Given the description of an element on the screen output the (x, y) to click on. 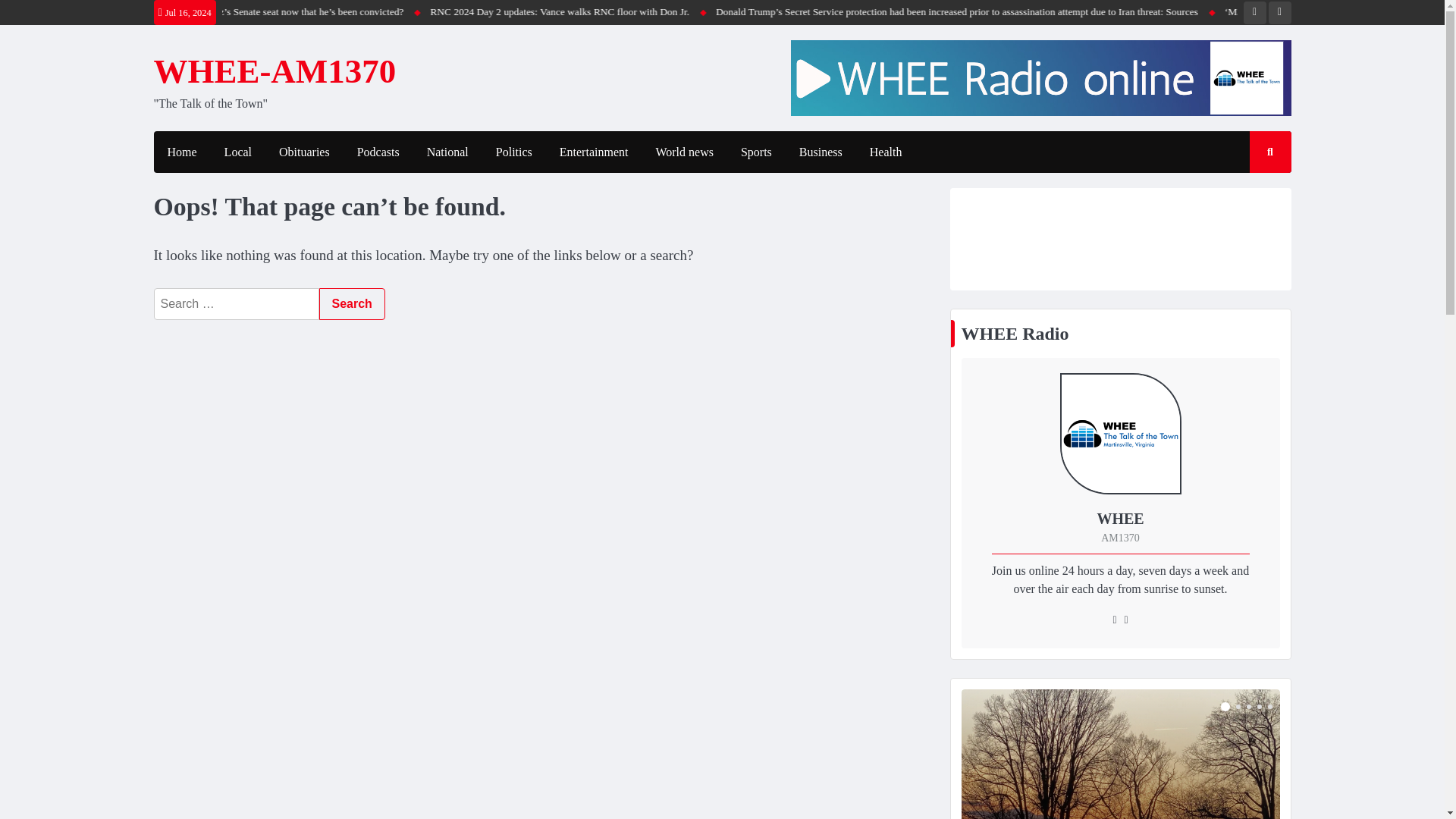
Health (885, 152)
WHEE-AM1370 (274, 71)
World news (684, 152)
National (447, 152)
Home (180, 152)
Sports (756, 152)
Search (351, 304)
Search (351, 304)
Special announcements and calendar (1119, 754)
Politics (513, 152)
Facebook (1254, 12)
Search (1256, 195)
Obituaries (303, 152)
RNC 2024 Day 2 updates: Vance walks RNC floor with Don Jr. (706, 11)
Twitter (1279, 12)
